Given the description of an element on the screen output the (x, y) to click on. 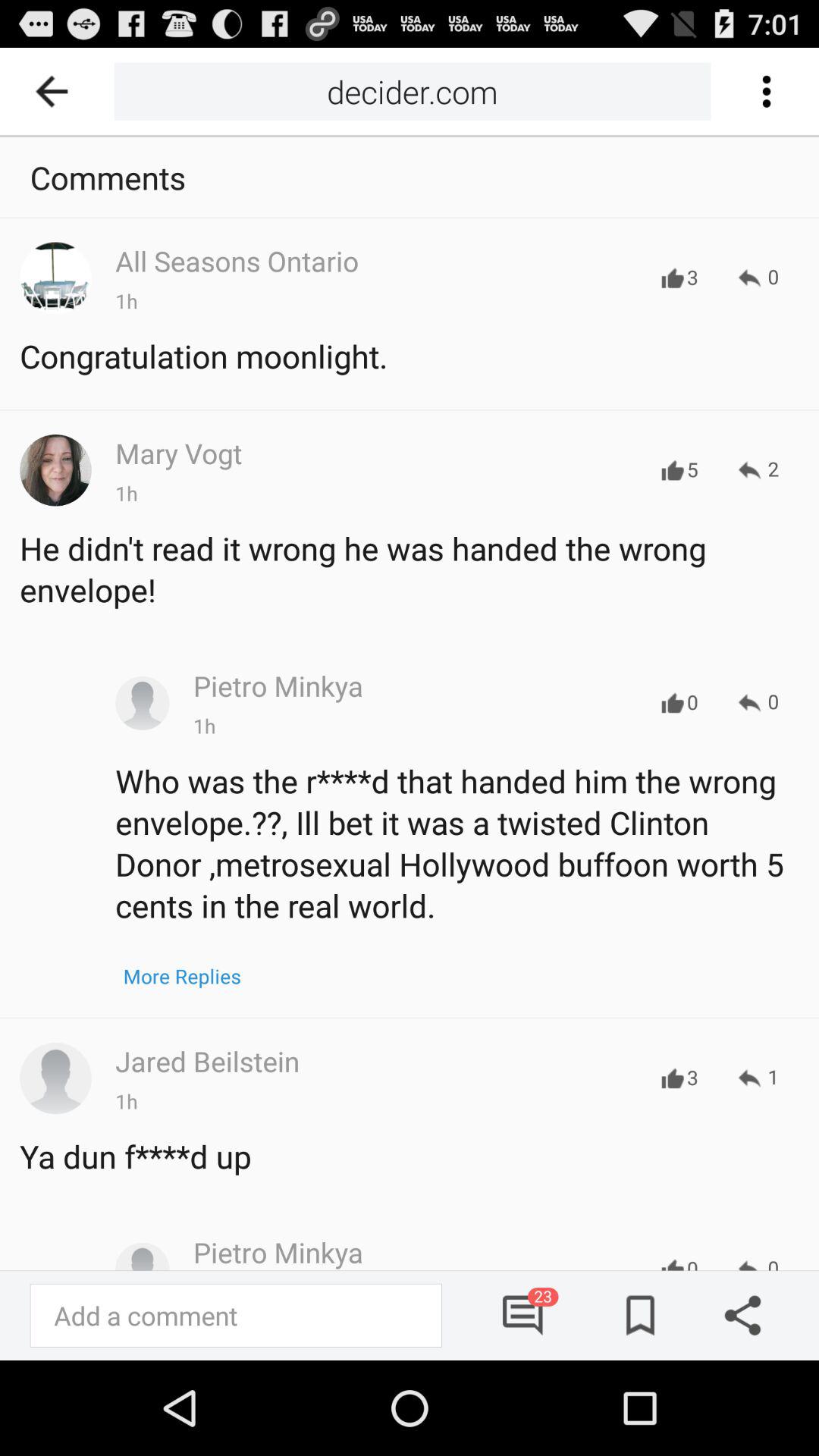
turn off icon next to the   icon (412, 91)
